Given the description of an element on the screen output the (x, y) to click on. 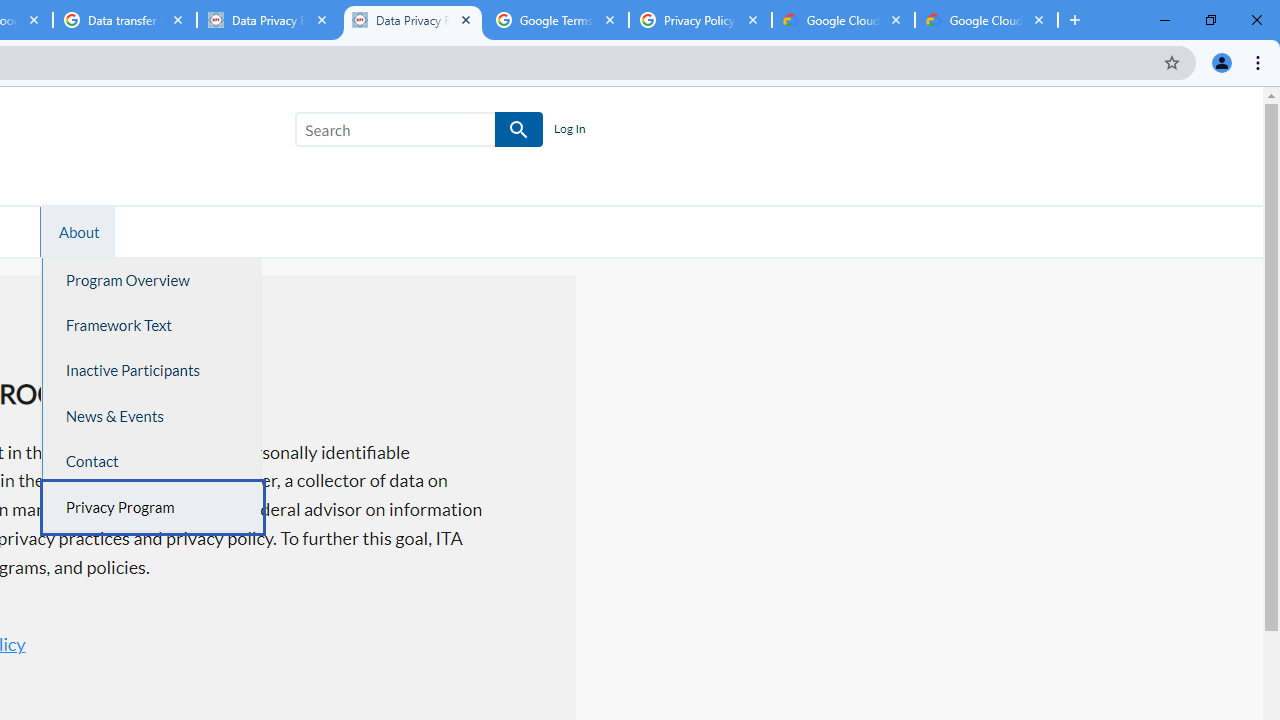
Search SEARCH (419, 133)
Contact (151, 462)
Data Privacy Framework (412, 20)
Log In (569, 129)
News & Events (151, 416)
SEARCH (519, 130)
Privacy Program (151, 507)
Framework Text (151, 325)
